Given the description of an element on the screen output the (x, y) to click on. 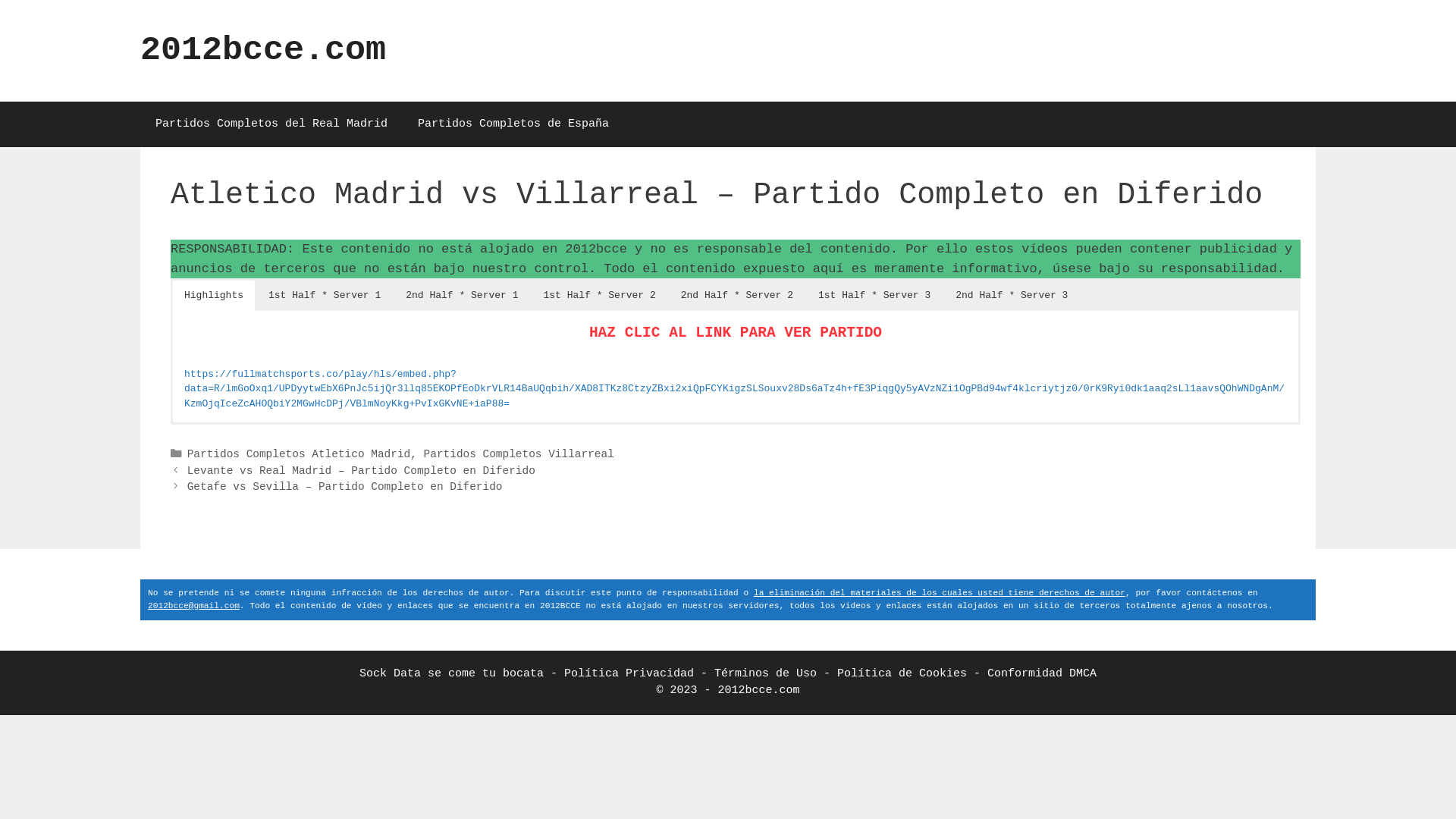
Partidos Completos Atletico Madrid Element type: text (299, 454)
Conformidad DMCA Element type: text (1041, 673)
Partidos Completos del Real Madrid Element type: text (271, 124)
Saltar al contenido Element type: text (0, 0)
2012bcce.com Element type: text (262, 50)
Sock Data se come tu bocata - Element type: text (461, 673)
Partidos Completos Villarreal Element type: text (518, 454)
